Given the description of an element on the screen output the (x, y) to click on. 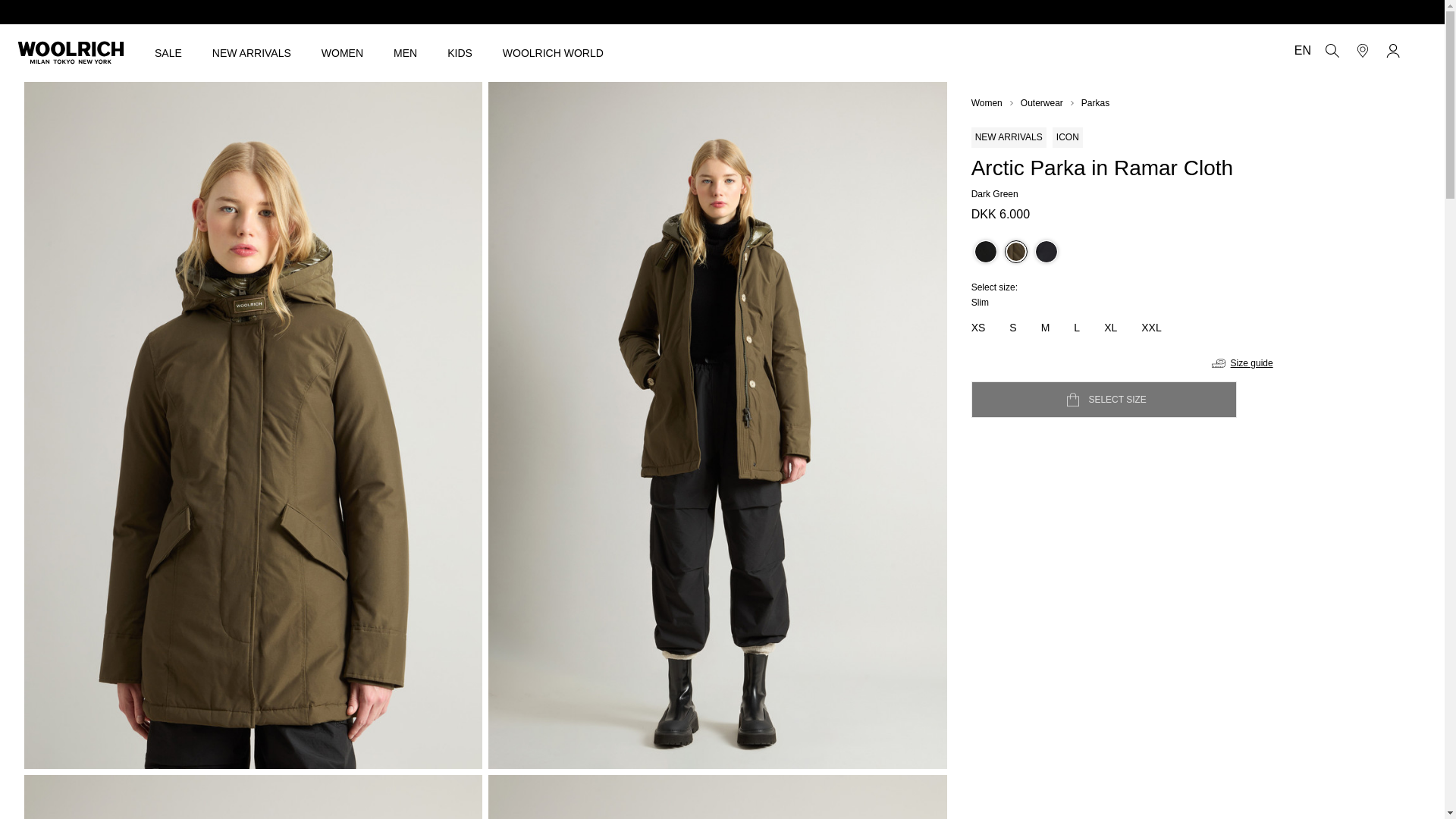
WOMEN (341, 52)
NEW ARRIVALS (251, 52)
Black (985, 251)
Dark Green (1015, 251)
Women (987, 102)
breadcrumbs Women (987, 102)
Outerwear (1041, 102)
WOOLRICH WORLD (553, 52)
Parkas (1095, 102)
SALE (168, 52)
